Given the description of an element on the screen output the (x, y) to click on. 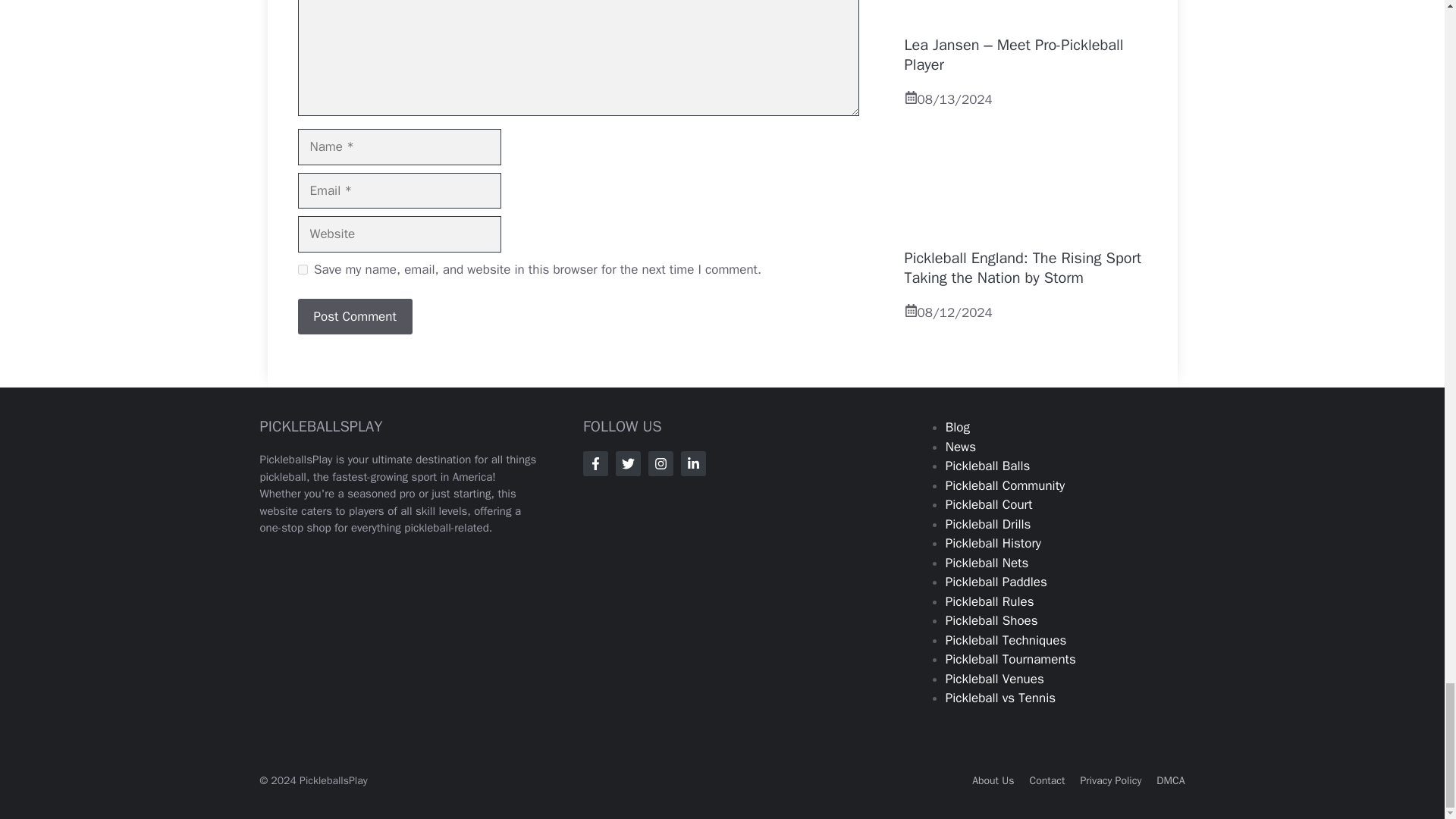
yes (302, 269)
Post Comment (354, 316)
Post Comment (354, 316)
